Given the description of an element on the screen output the (x, y) to click on. 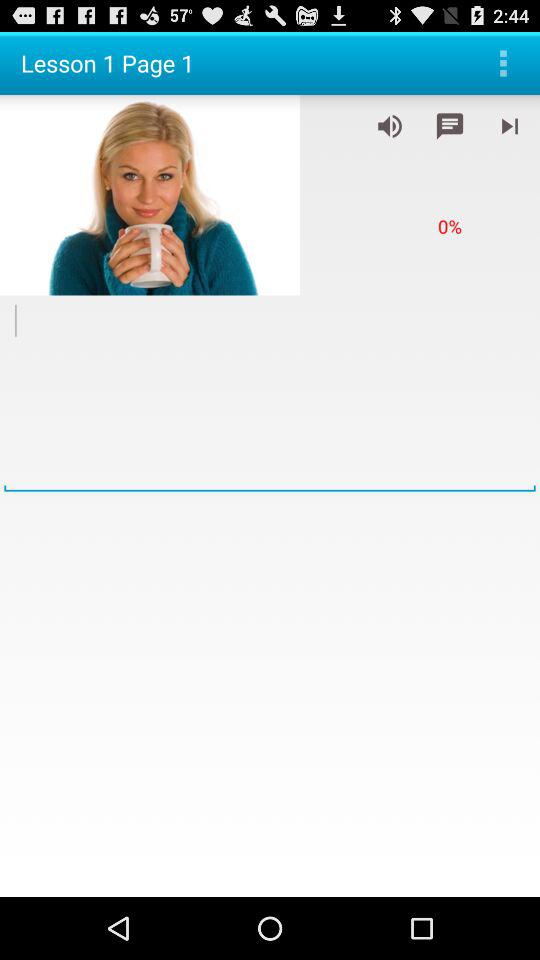
check messages (450, 125)
